Given the description of an element on the screen output the (x, y) to click on. 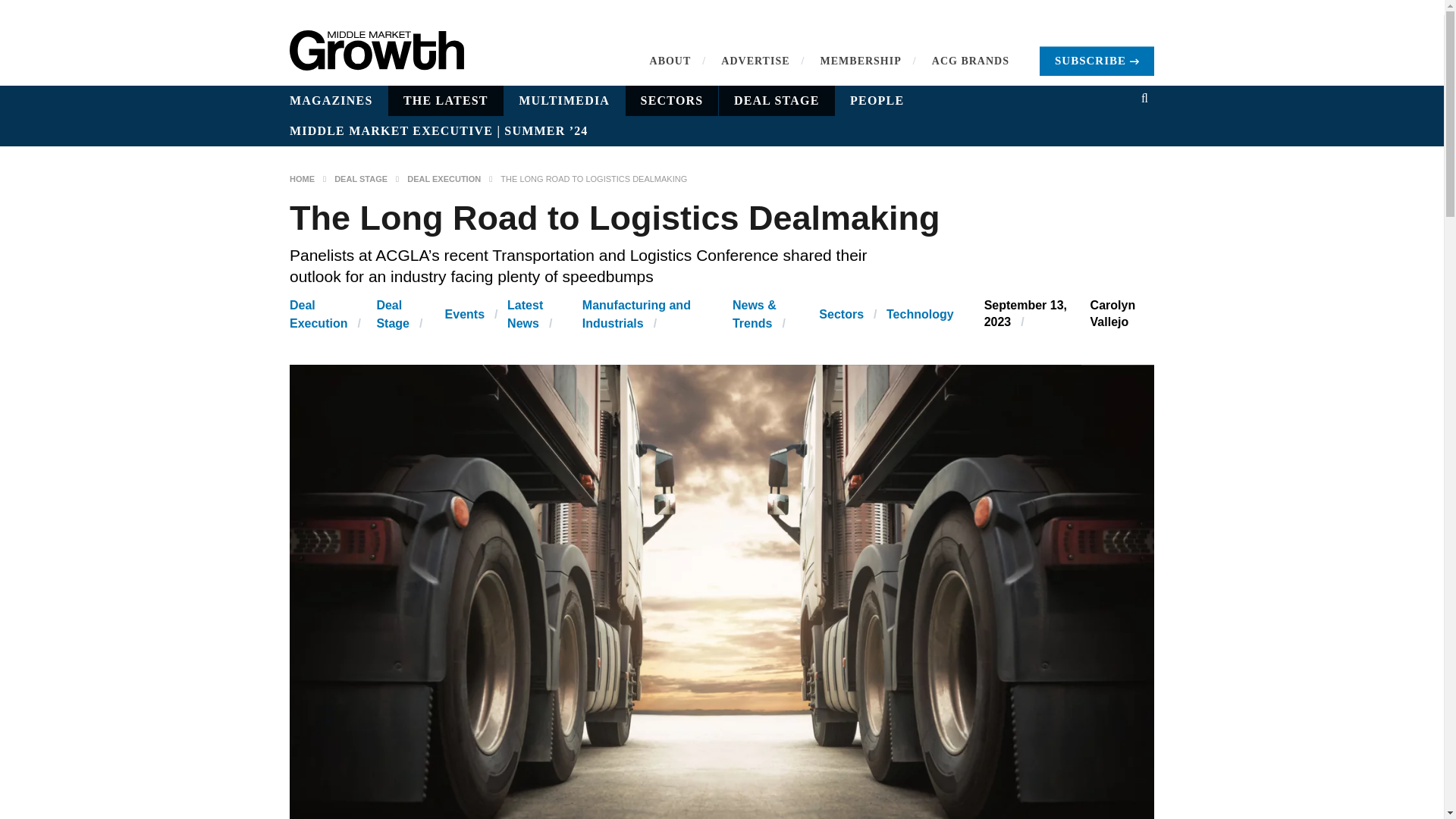
View all posts in Deal Execution (318, 314)
View all posts in Deal Stage (392, 314)
Middle Market Growth (376, 50)
ABOUT (670, 60)
View all posts in Events (464, 314)
SECTORS (672, 100)
DEAL STAGE (776, 100)
View all posts in Manufacturing and Industrials (636, 314)
SUBSCRIBE (1096, 60)
MEMBERSHIP (861, 60)
ACG BRANDS (970, 60)
THE LATEST (445, 100)
View all posts in Technology (919, 314)
View all posts in Sectors (840, 314)
View all posts in Latest News (524, 314)
